Given the description of an element on the screen output the (x, y) to click on. 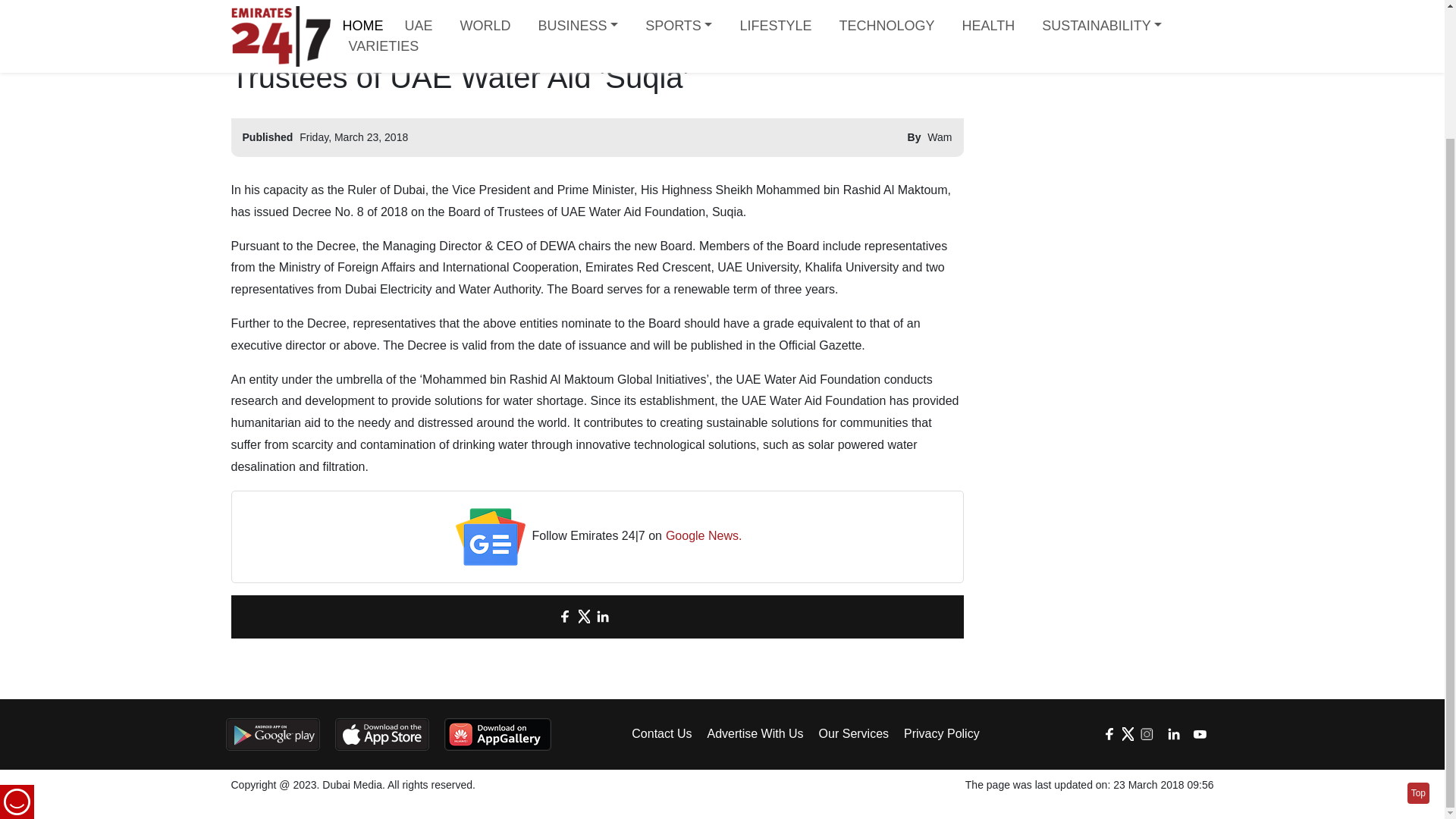
Google News. (703, 536)
Go to top (1418, 637)
